Given the description of an element on the screen output the (x, y) to click on. 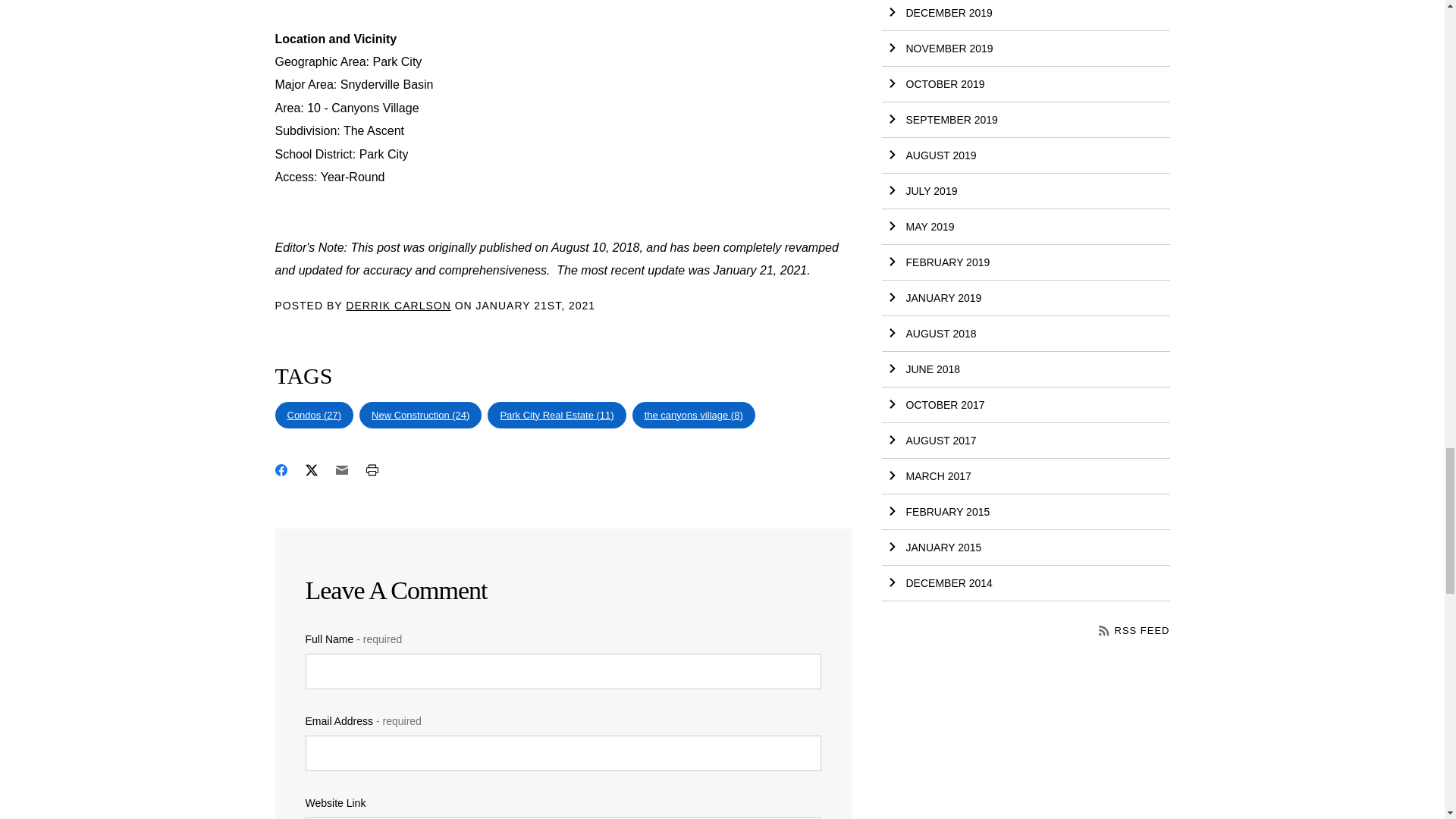
the canyons village (693, 415)
New Construction (420, 415)
Condos (314, 415)
RSS FEED (1134, 630)
DERRIK CARLSON (397, 304)
Park City Real Estate (556, 415)
